Given the description of an element on the screen output the (x, y) to click on. 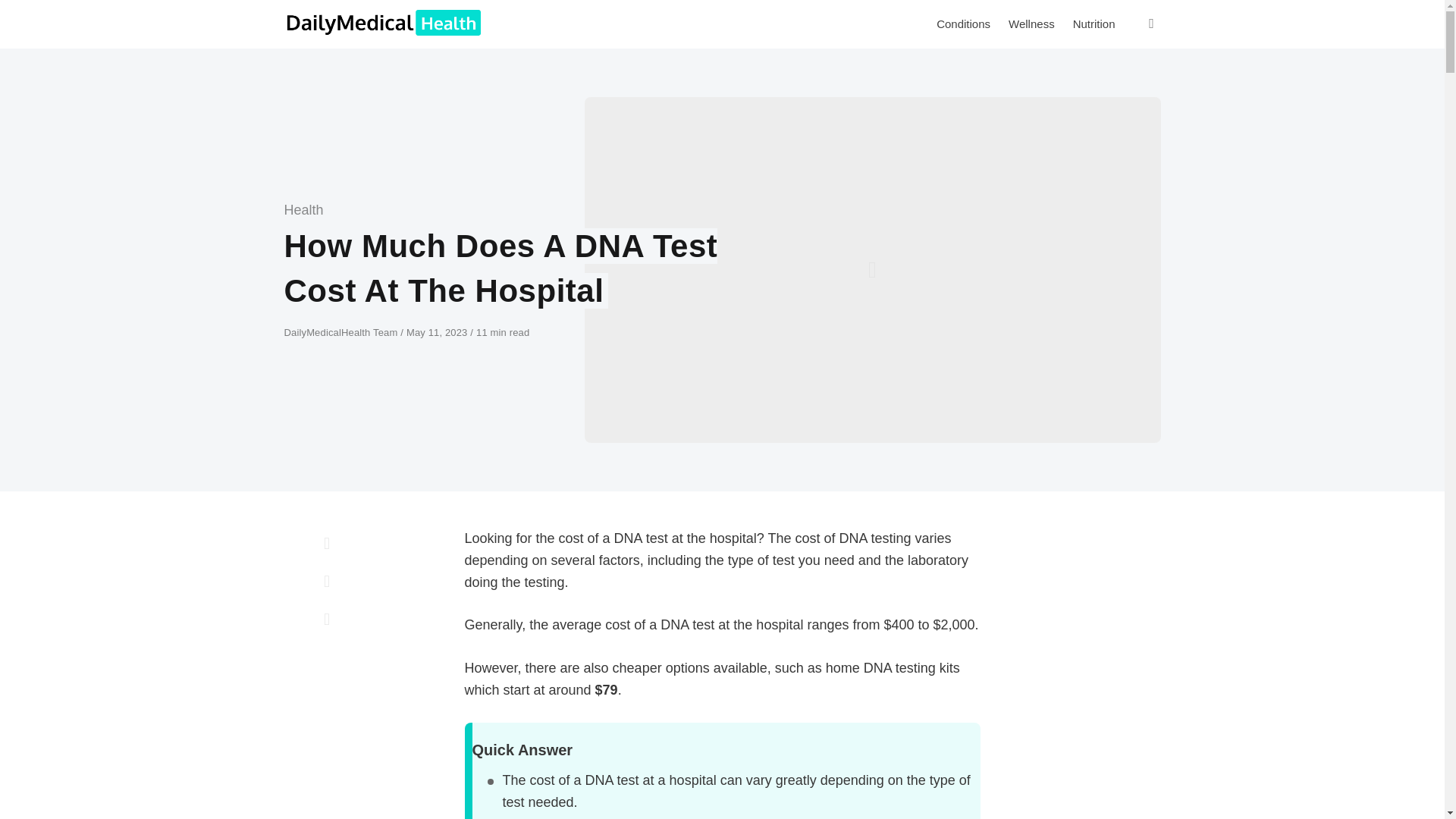
May 11, 2023 (438, 332)
May 11, 2023 (438, 332)
Conditions (962, 24)
Nutrition (1094, 24)
Wellness (1031, 24)
DailyMedicalHealth Team (341, 332)
Health (303, 209)
